Given the description of an element on the screen output the (x, y) to click on. 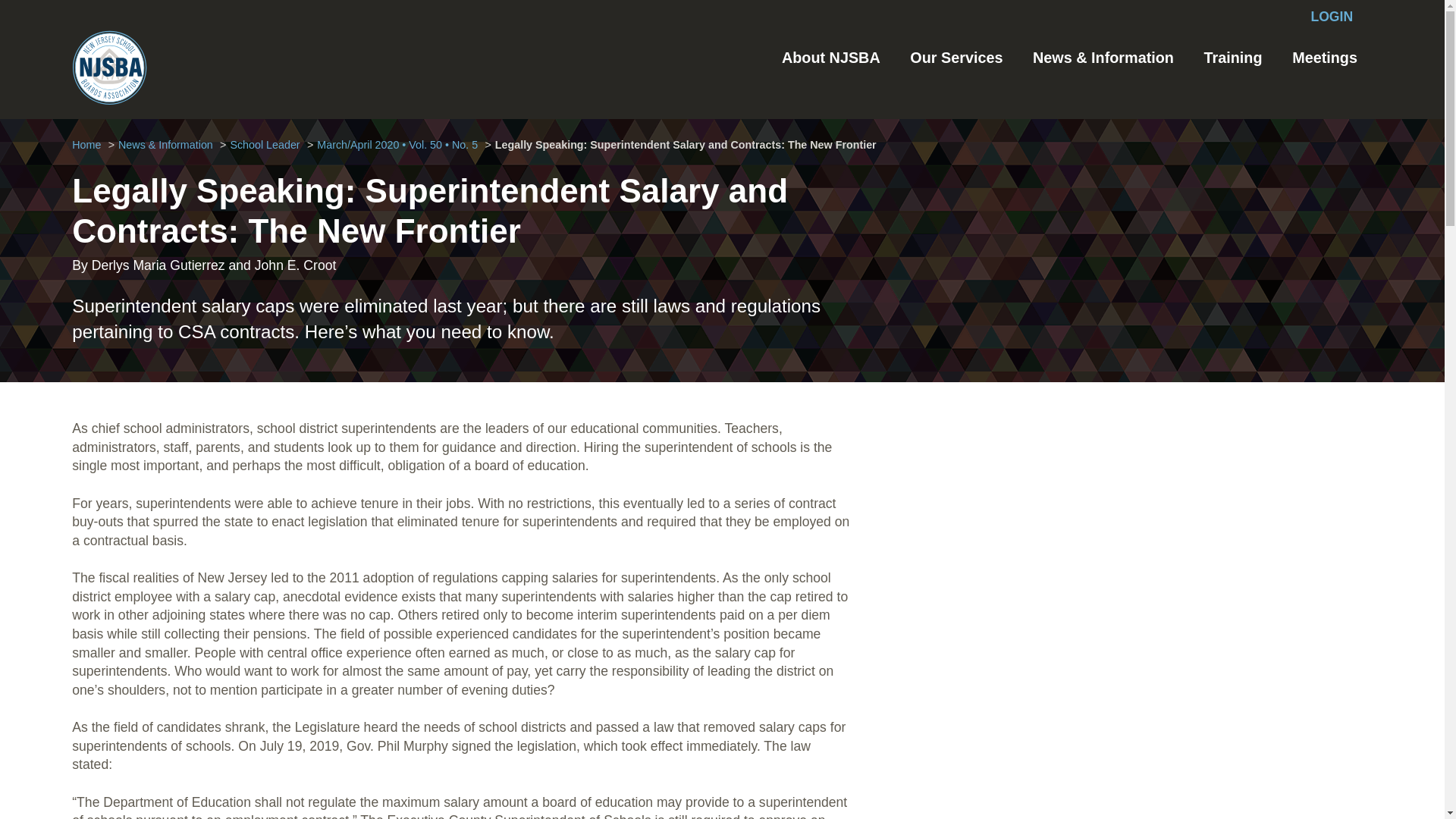
Our Services (956, 57)
About NJSBA (831, 57)
LOGIN (1331, 17)
